Given the description of an element on the screen output the (x, y) to click on. 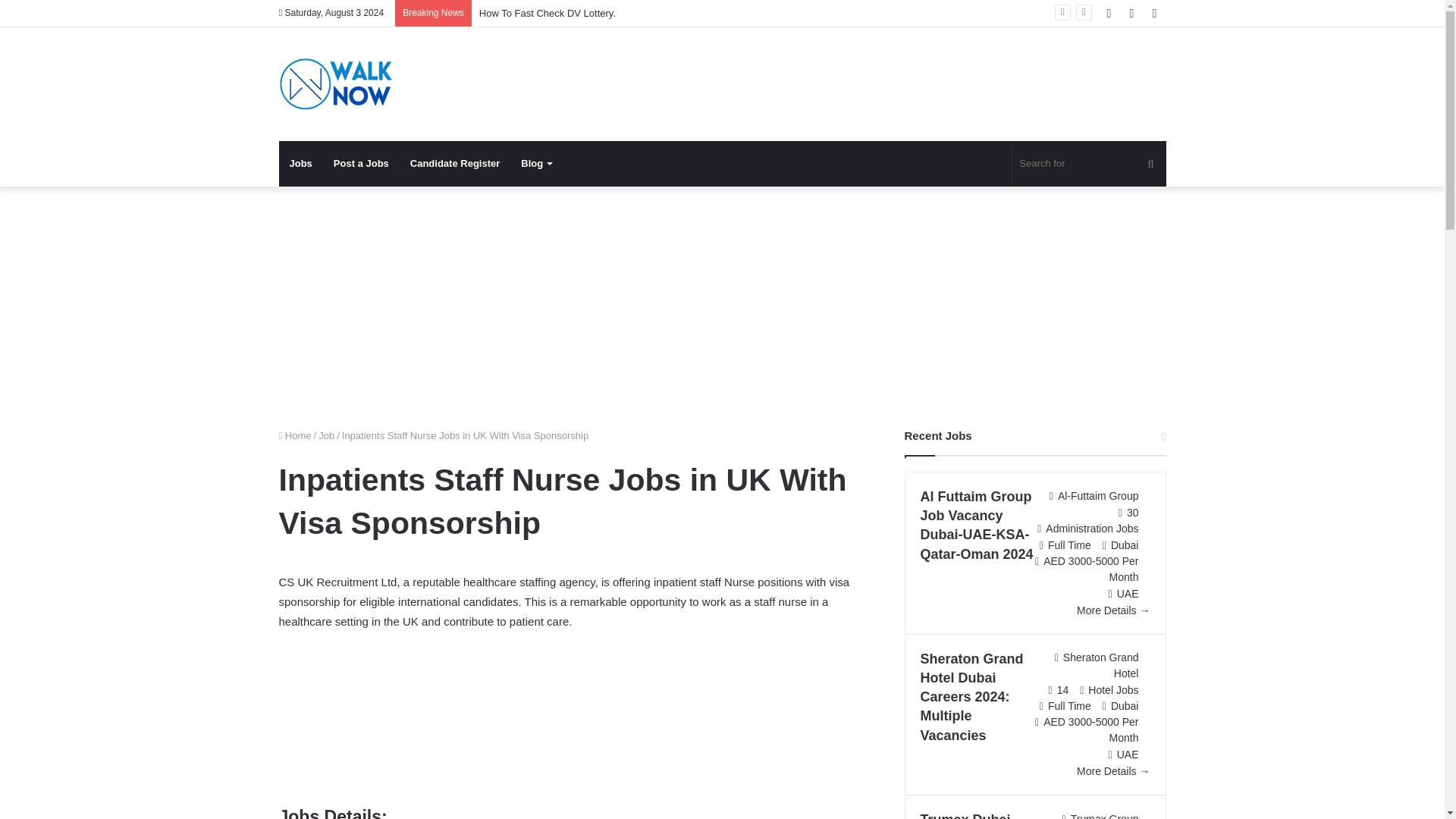
Wel Come to Walknow (336, 83)
Search for (1088, 163)
Al Futtaim Group Job Vacancy Dubai-UAE-KSA-Qatar-Oman 2024 (976, 524)
Al-Futtaim Group (1098, 495)
Jobs (301, 163)
How To Fast Check DV Lottery. (547, 12)
30 (1132, 512)
Blog (536, 163)
Job (326, 435)
Candidate Register (454, 163)
Administration Jobs (1091, 528)
Home (295, 435)
Dubai (1124, 544)
Full Time (1069, 544)
